Given the description of an element on the screen output the (x, y) to click on. 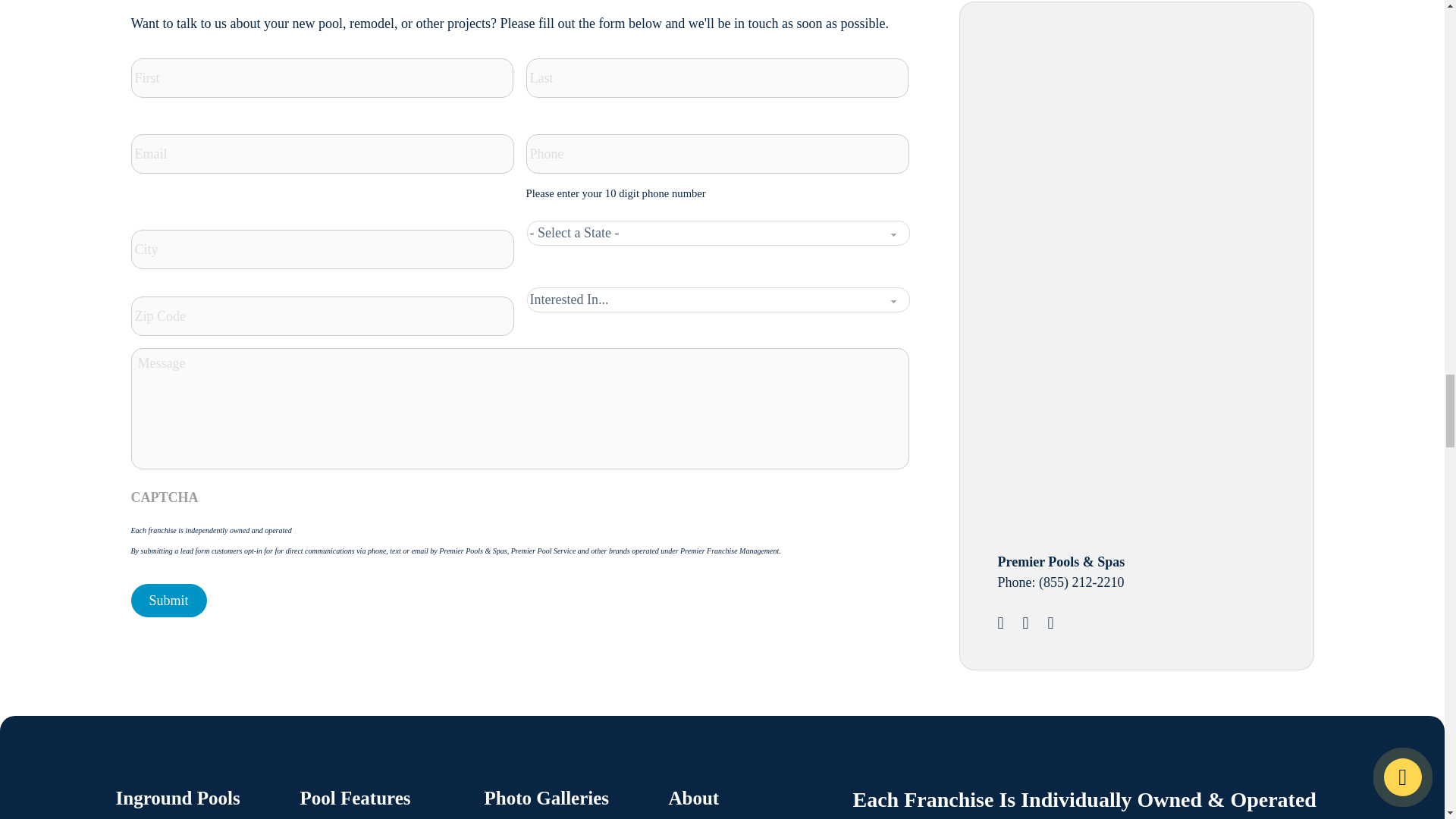
Design Your Pool (1111, 141)
Submit (168, 600)
Pool Financing (1111, 395)
